Given the description of an element on the screen output the (x, y) to click on. 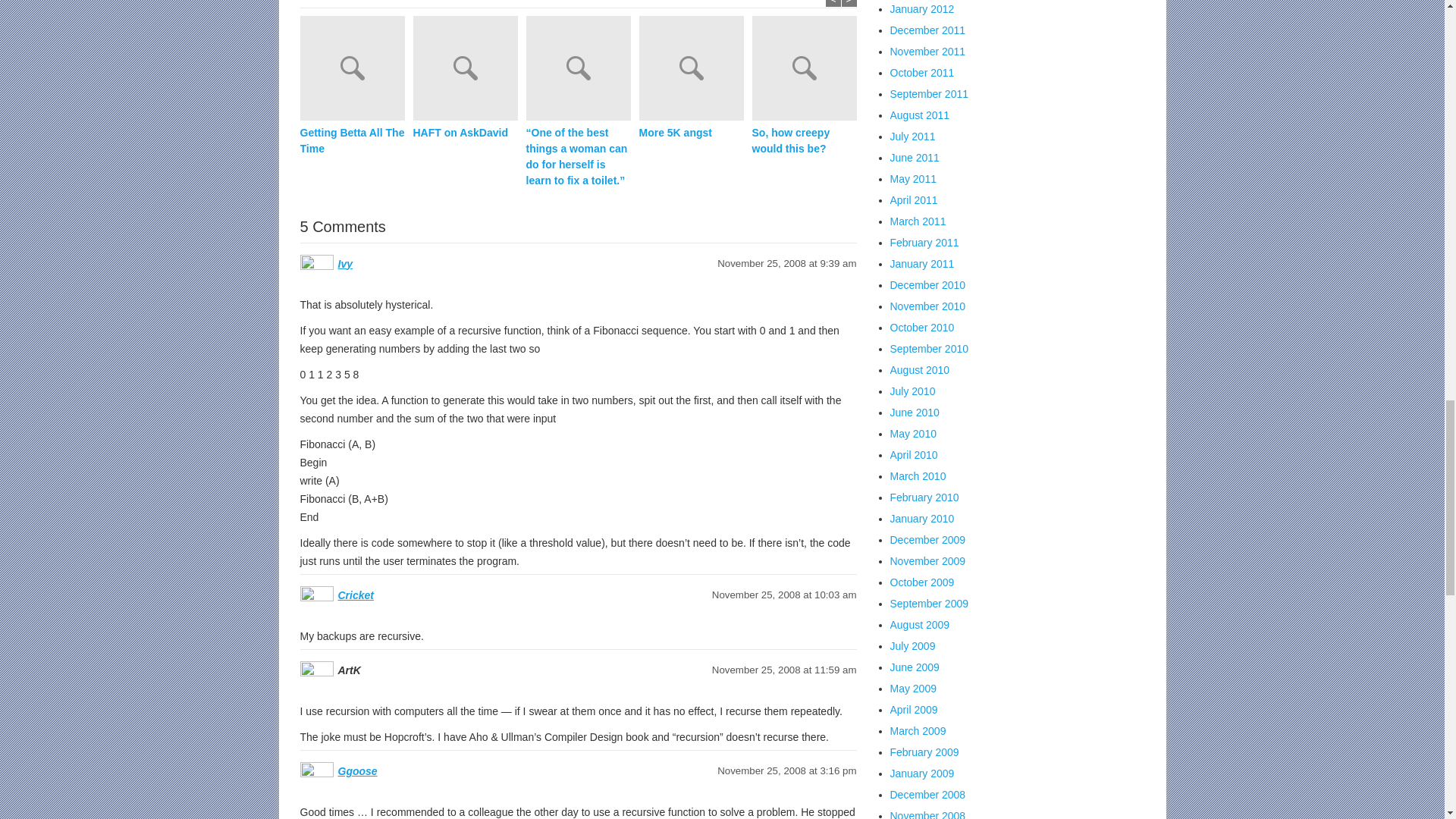
Getting Betta All The Time (351, 141)
Getting Betta All The Time (351, 141)
More 5K angst (351, 571)
So, how creepy would this be? (351, 705)
HAFT on AskDavid (351, 273)
HAFT on AskDavid (351, 273)
HAFT on AskDavid (578, 211)
Getting Betta All The Time (578, 70)
